Given the description of an element on the screen output the (x, y) to click on. 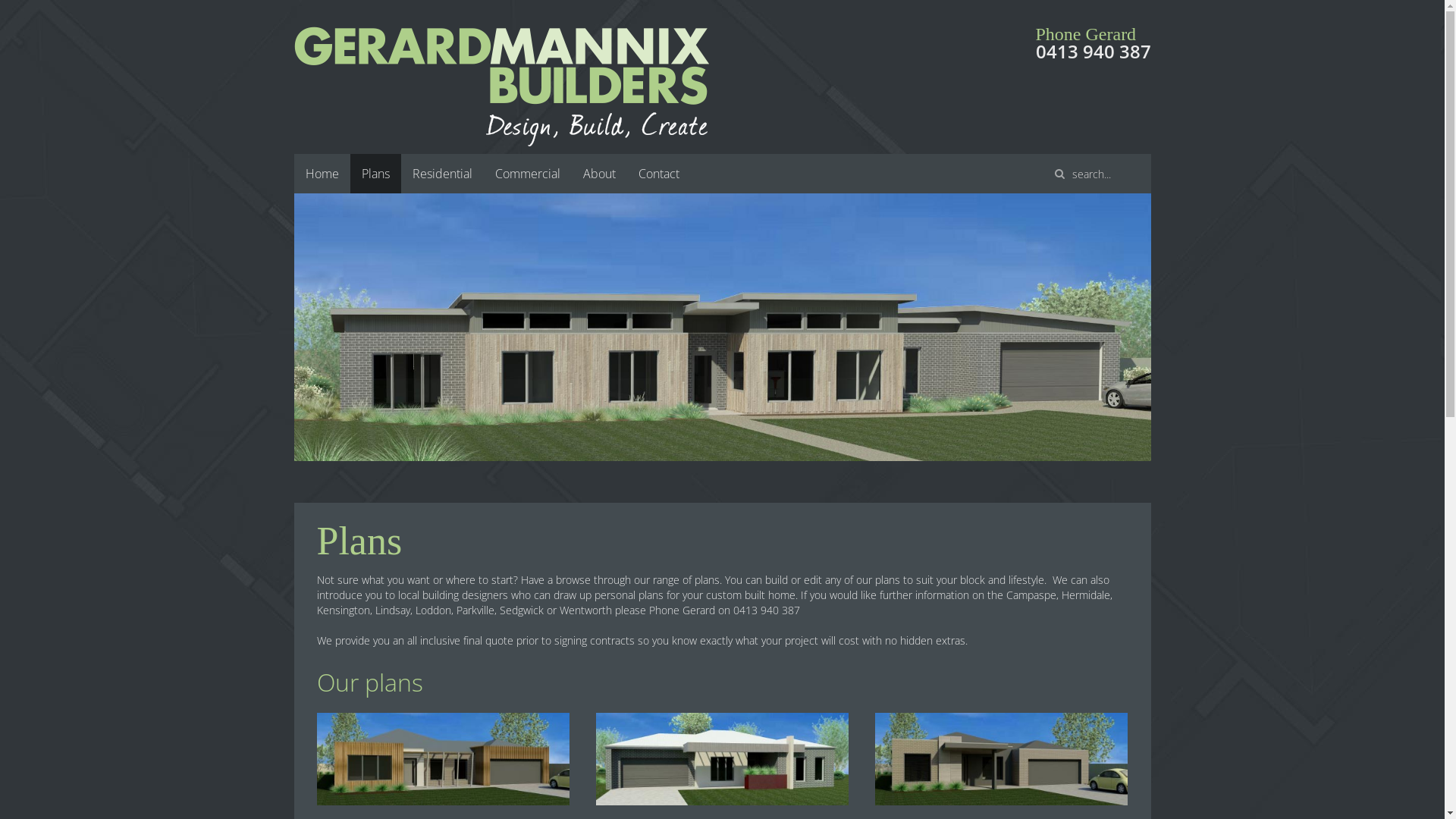
Hermidale Element type: hover (722, 758)
Contact Element type: text (658, 173)
About Element type: text (599, 173)
Residential Element type: text (441, 173)
Commercial Element type: text (527, 173)
Kensington Element type: hover (1001, 758)
Home Element type: text (322, 173)
Campaspe Element type: hover (442, 758)
Plans Element type: text (375, 173)
